Given the description of an element on the screen output the (x, y) to click on. 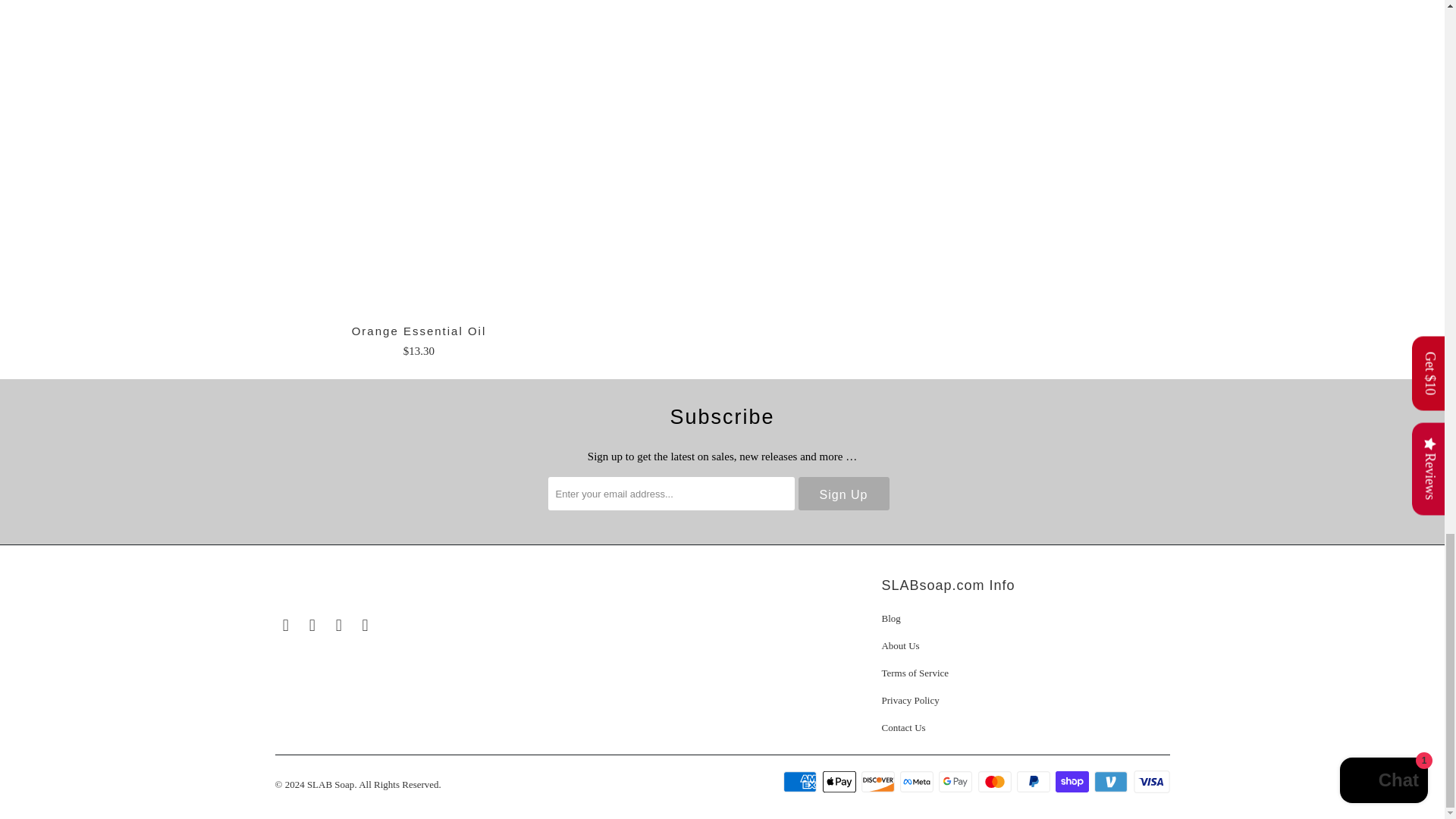
Meta Pay (917, 781)
PayPal (1034, 781)
Venmo (1112, 781)
Shop Pay (1073, 781)
SLAB Soap on Pinterest (338, 625)
Mastercard (996, 781)
American Express (801, 781)
SLAB Soap on Instagram (312, 625)
Google Pay (957, 781)
Discover (879, 781)
Apple Pay (840, 781)
Sign Up (842, 493)
Visa (1150, 781)
SLAB Soap on Facebook (286, 625)
SLAB Soap on Twitter (365, 625)
